Given the description of an element on the screen output the (x, y) to click on. 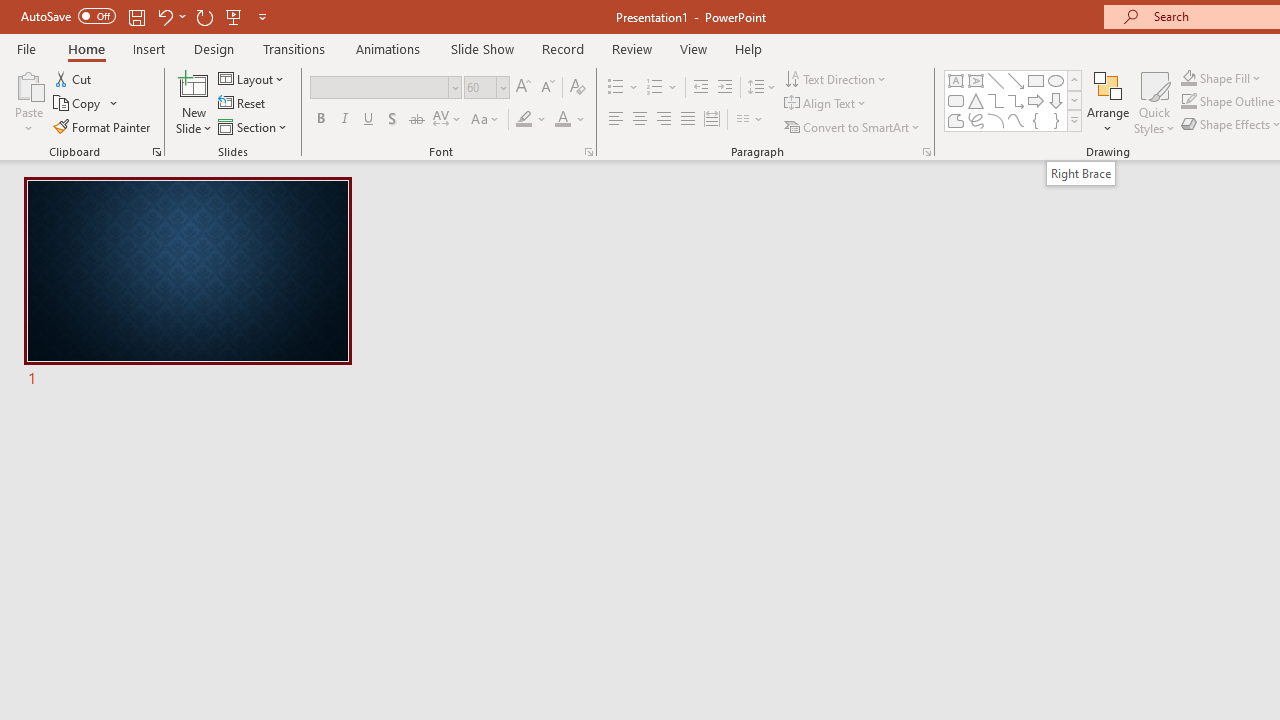
Align Text (826, 103)
Paragraph... (926, 151)
Text Direction (836, 78)
Reset (243, 103)
